Given the description of an element on the screen output the (x, y) to click on. 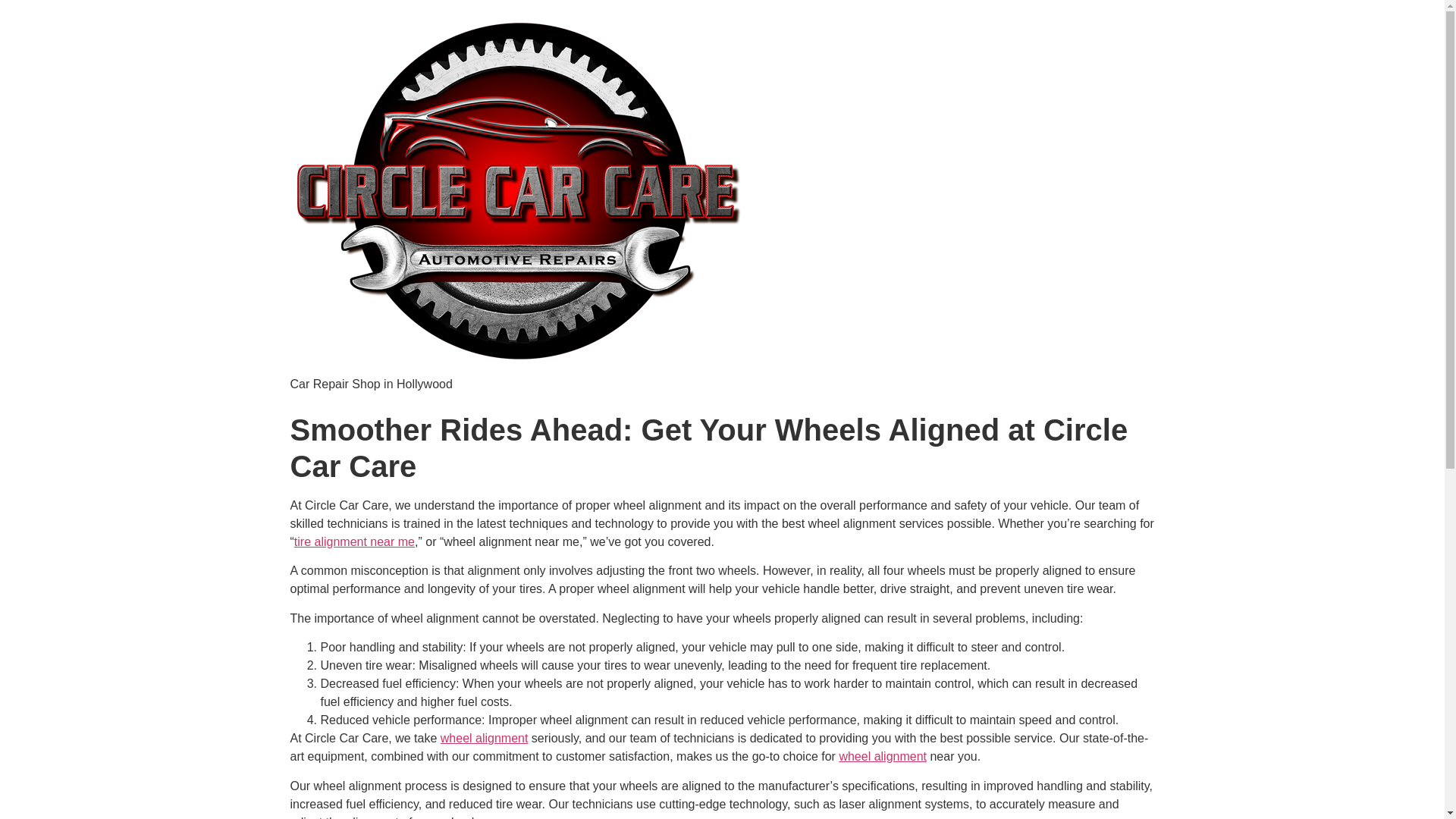
wheel alignment (882, 756)
tire alignment near me (354, 541)
wheel alignment (484, 738)
